Given the description of an element on the screen output the (x, y) to click on. 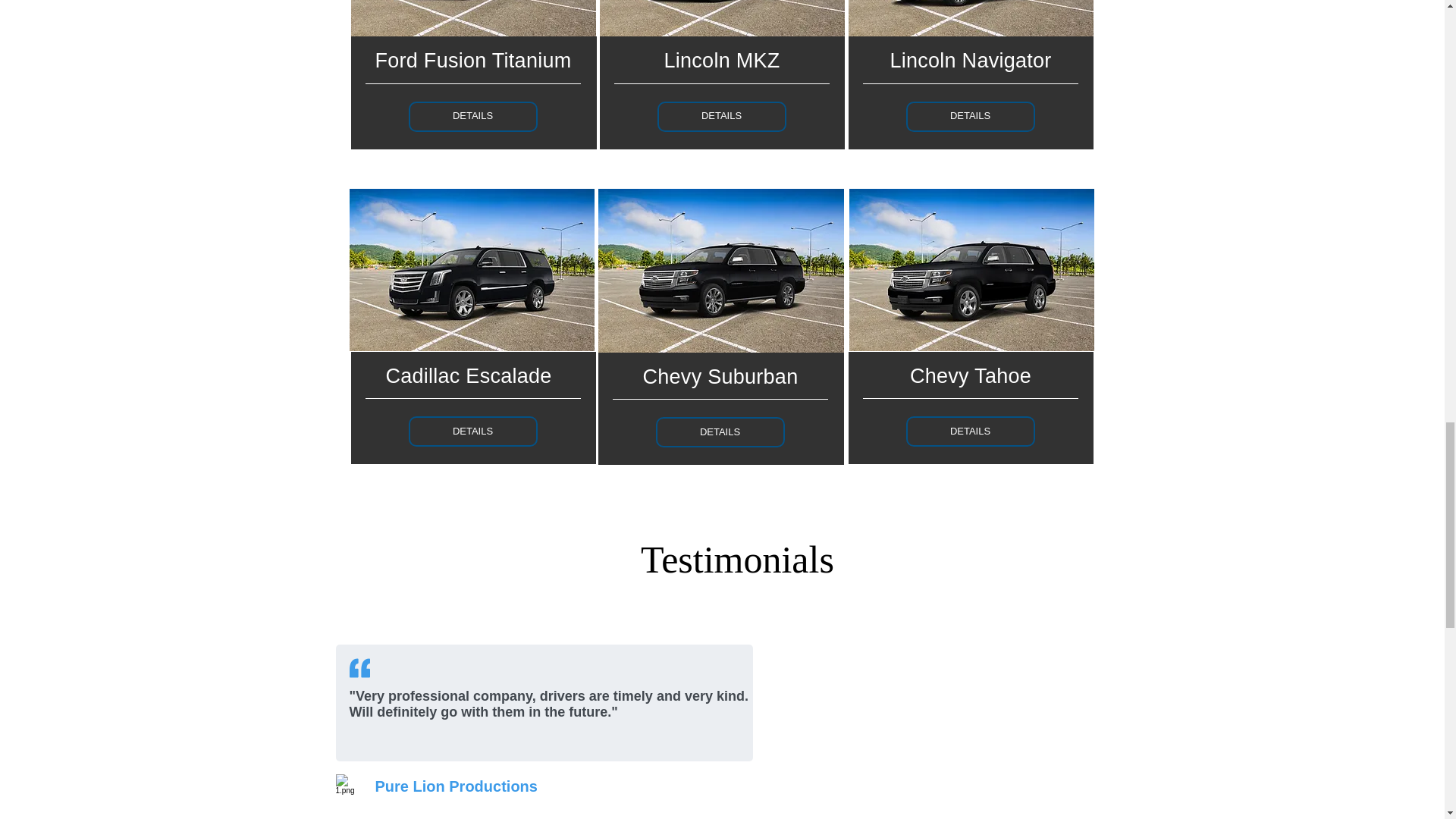
DETAILS (472, 431)
DETAILS (969, 431)
DETAILS (969, 116)
DETAILS (719, 431)
DETAILS (472, 116)
DETAILS (721, 116)
